Given the description of an element on the screen output the (x, y) to click on. 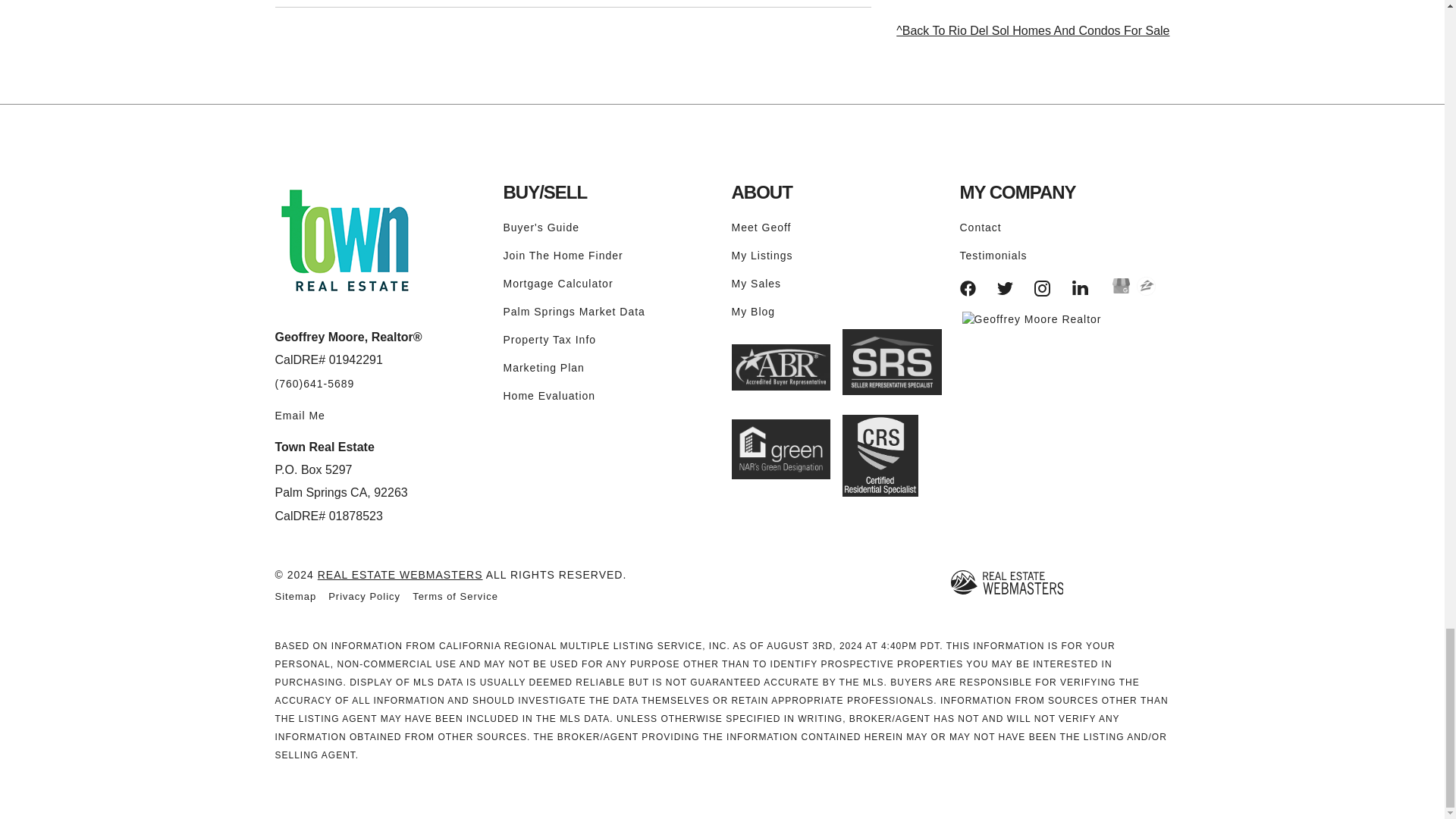
Twitter (1005, 288)
LinkedIn (1079, 288)
Facebook (967, 288)
